Given the description of an element on the screen output the (x, y) to click on. 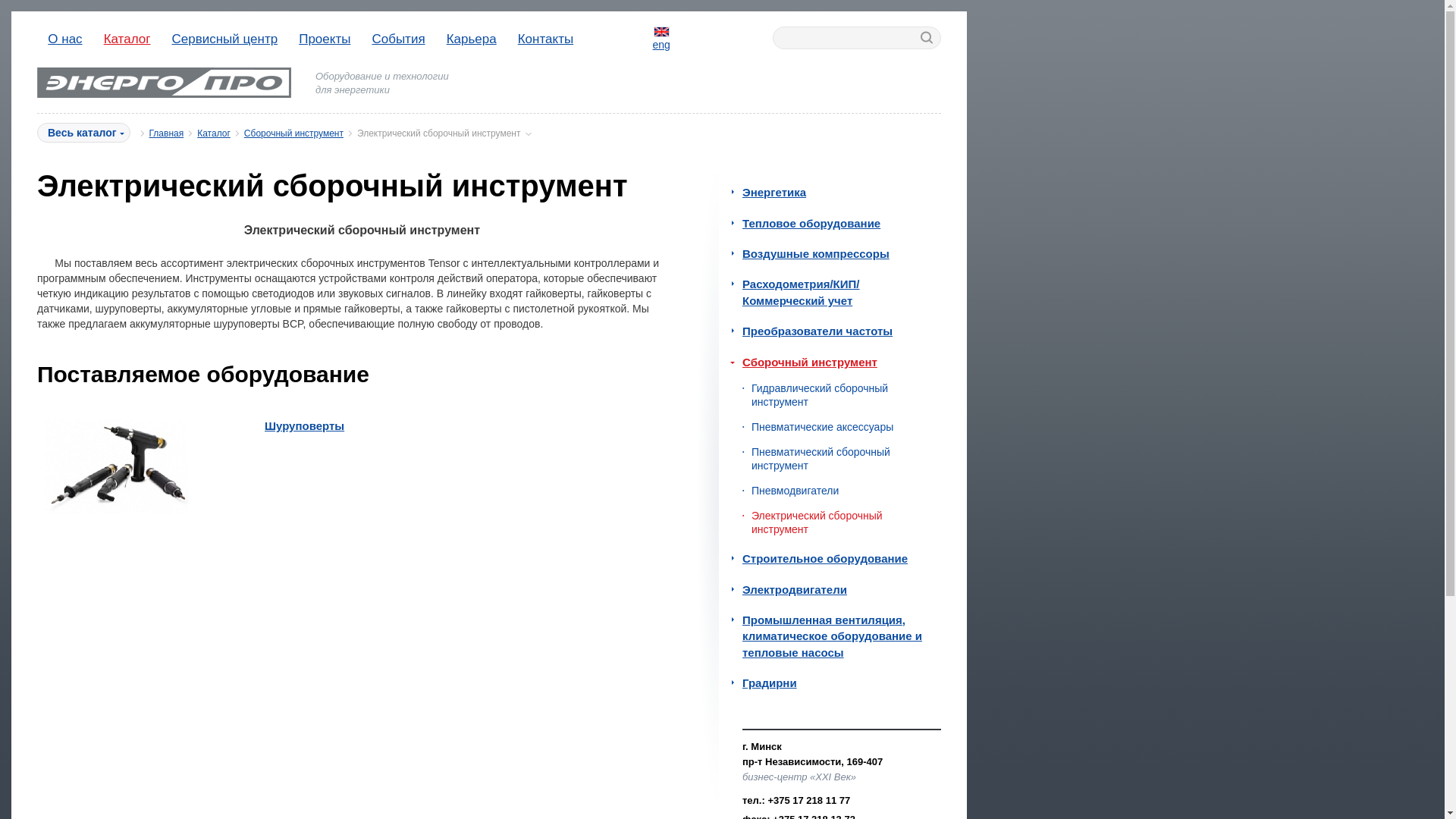
eng Element type: text (661, 38)
